Given the description of an element on the screen output the (x, y) to click on. 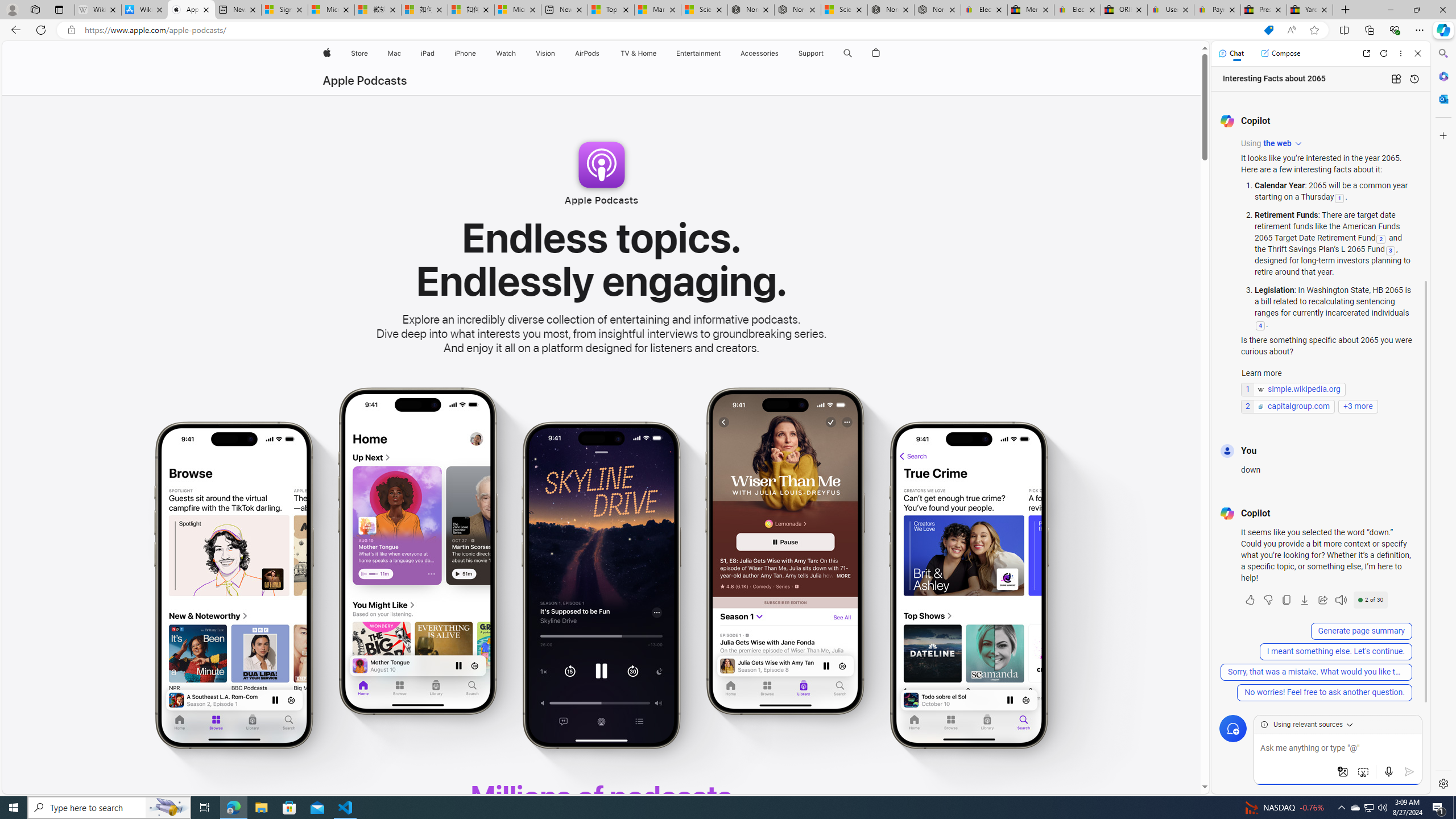
iPhone (464, 53)
Watch (506, 53)
TV and Home (637, 53)
Yard, Garden & Outdoor Living (1309, 9)
Mac (394, 53)
Shopping in Microsoft Edge (1268, 29)
Store (359, 53)
Store menu (370, 53)
AirPods (587, 53)
Apple (325, 53)
Accessories (759, 53)
